Given the description of an element on the screen output the (x, y) to click on. 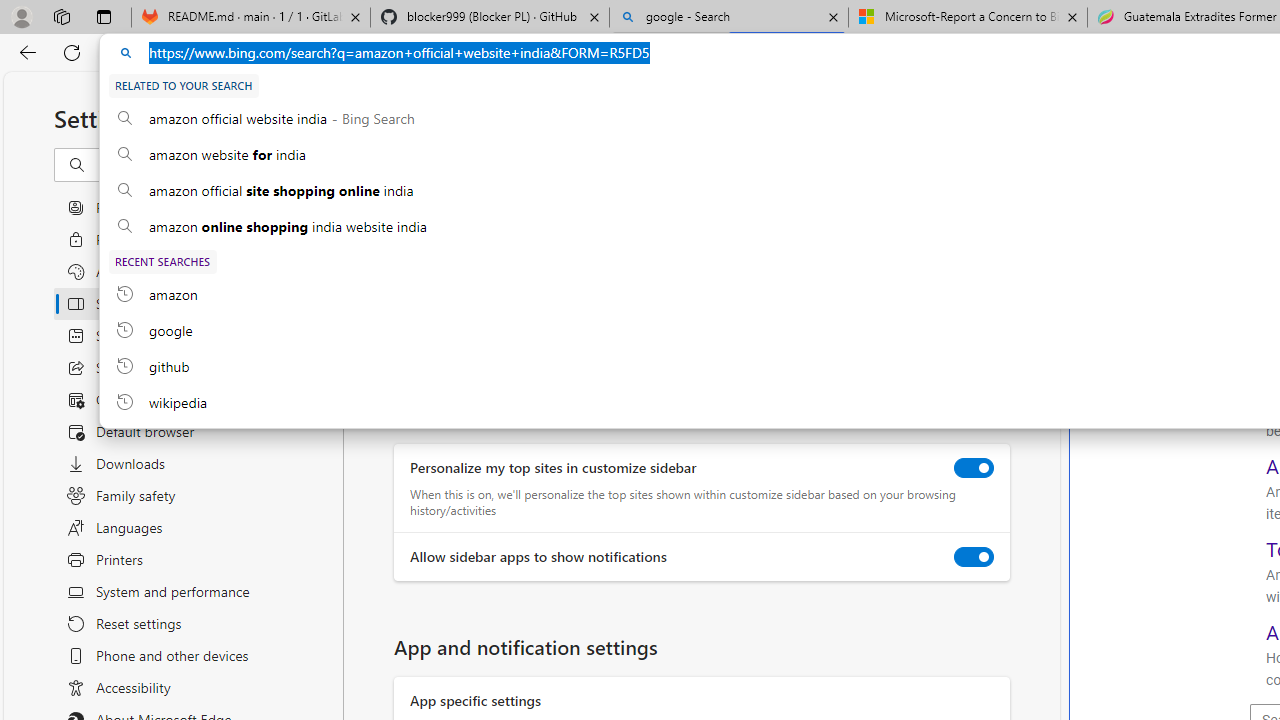
Off Sidebar will never show (413, 311)
google - Search (729, 17)
